Given the description of an element on the screen output the (x, y) to click on. 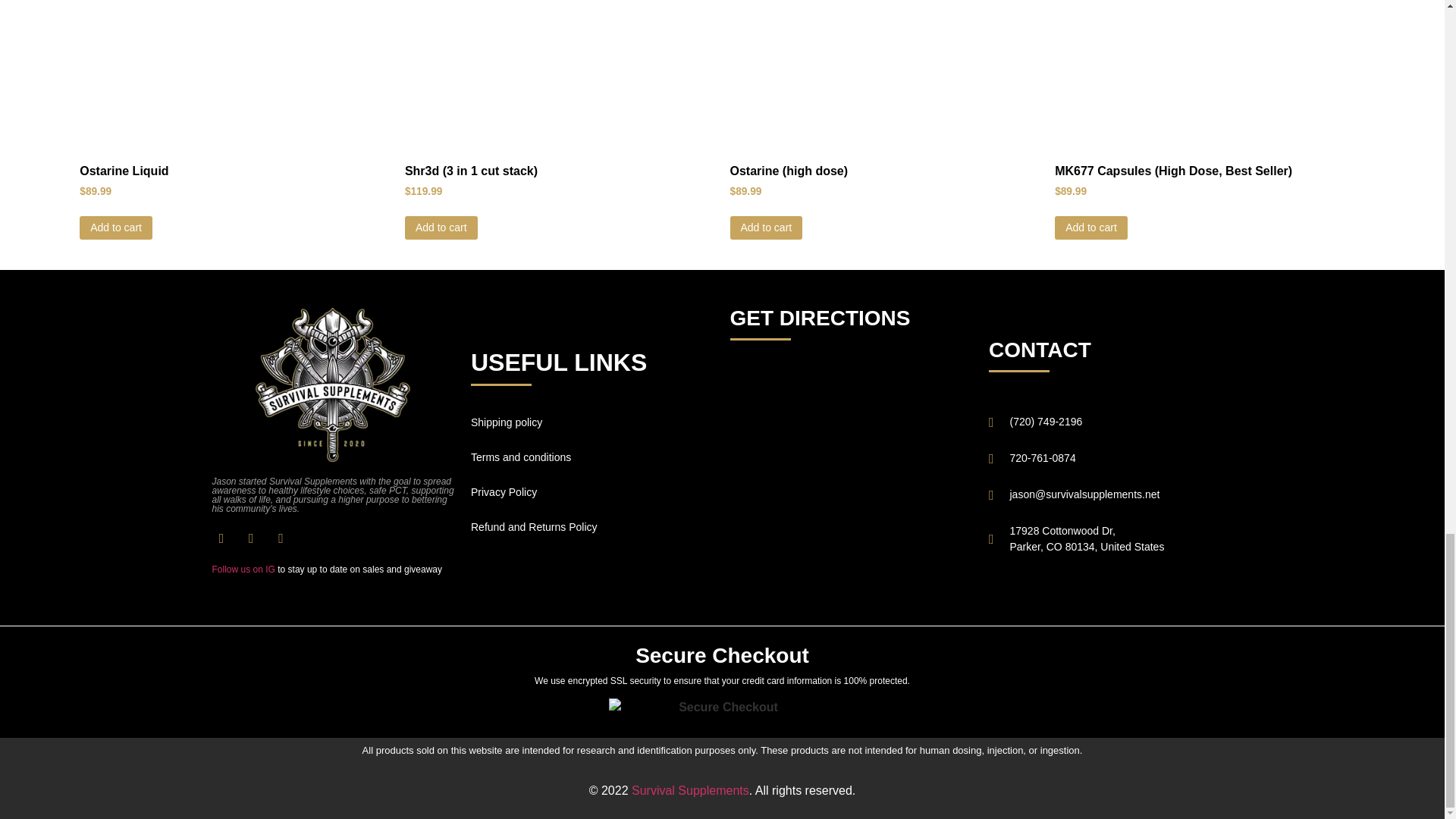
Follow us on IG (243, 569)
Shipping policy (592, 421)
Terms and conditions (592, 457)
Add to cart (116, 227)
Refund and Returns Policy (592, 526)
Privacy Policy (592, 492)
Add to cart (765, 227)
Add to cart (440, 227)
Add to cart (1090, 227)
